Given the description of an element on the screen output the (x, y) to click on. 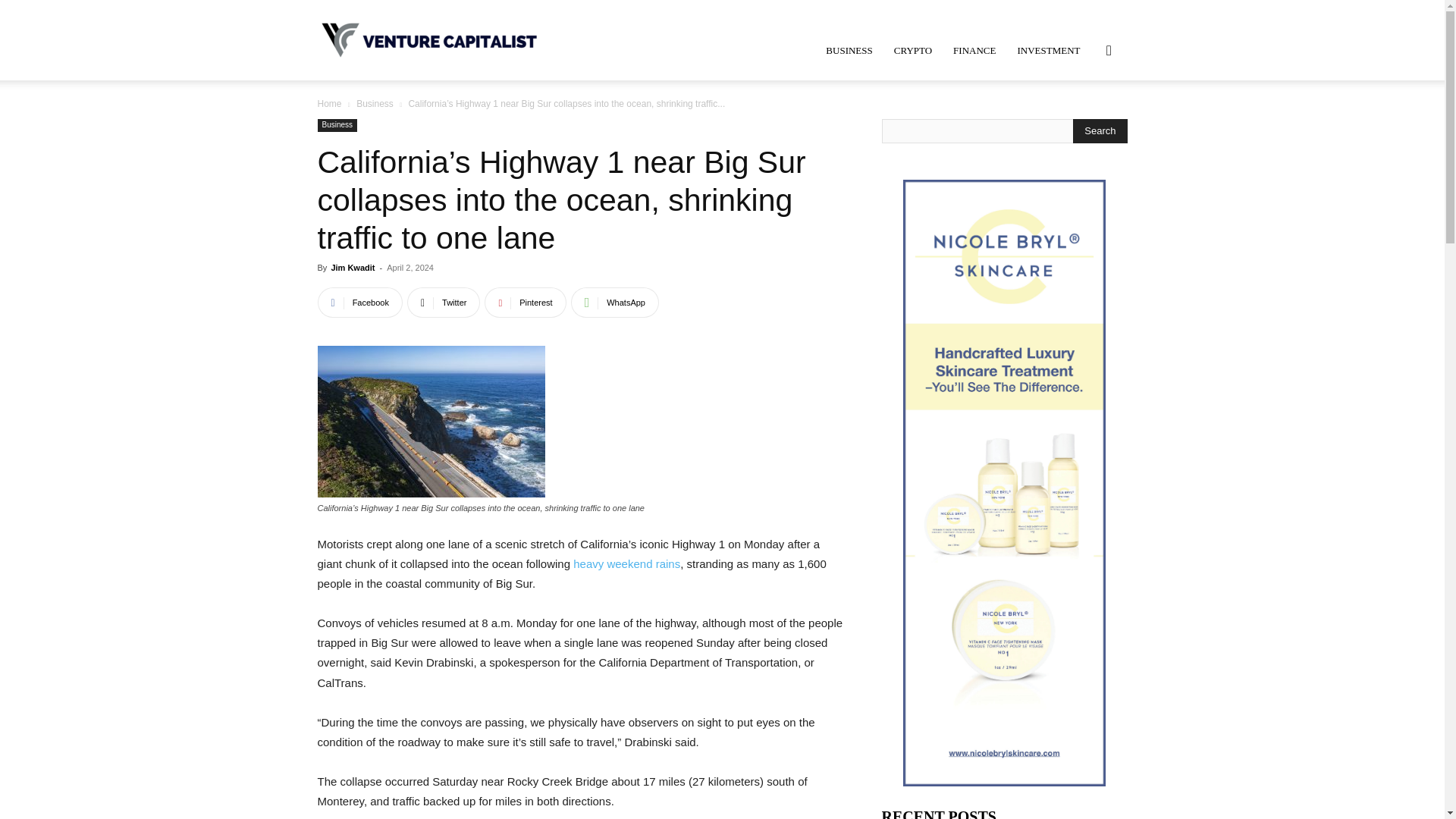
heavy weekend rains (626, 563)
Business (336, 124)
Twitter (443, 302)
CRYPTO (912, 50)
Twitter (443, 302)
Search (1085, 122)
Venture Capitalist Mag (430, 39)
WhatsApp (614, 302)
Pinterest (525, 302)
BUSINESS (848, 50)
INVESTMENT (1048, 50)
View all posts in Business (374, 103)
Business (374, 103)
Facebook (359, 302)
Search (1099, 130)
